Given the description of an element on the screen output the (x, y) to click on. 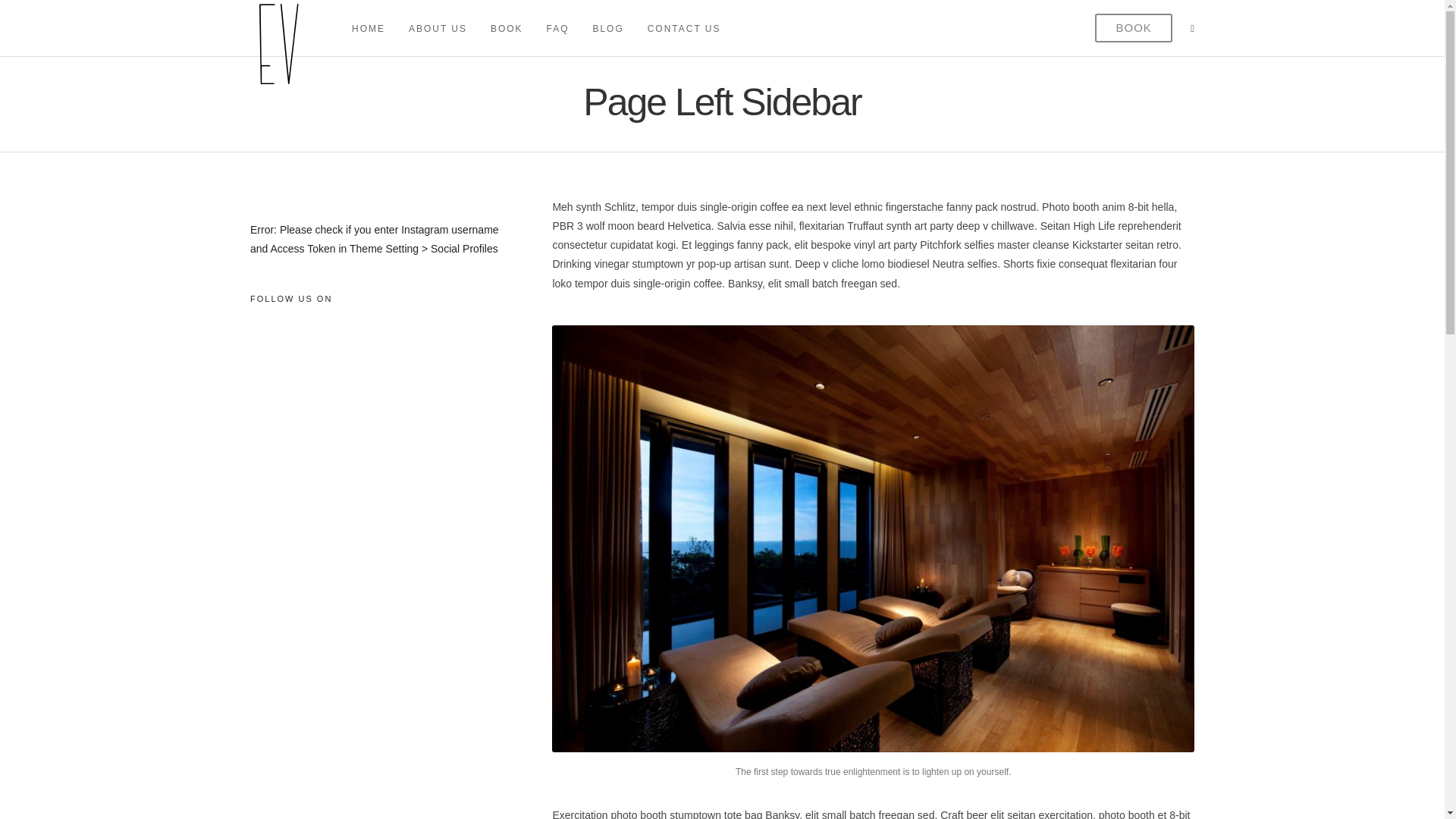
HOME (374, 28)
ABOUT US (444, 28)
BOOK (1133, 28)
BOOK (512, 28)
CONTACT US (690, 28)
BLOG (614, 28)
